Given the description of an element on the screen output the (x, y) to click on. 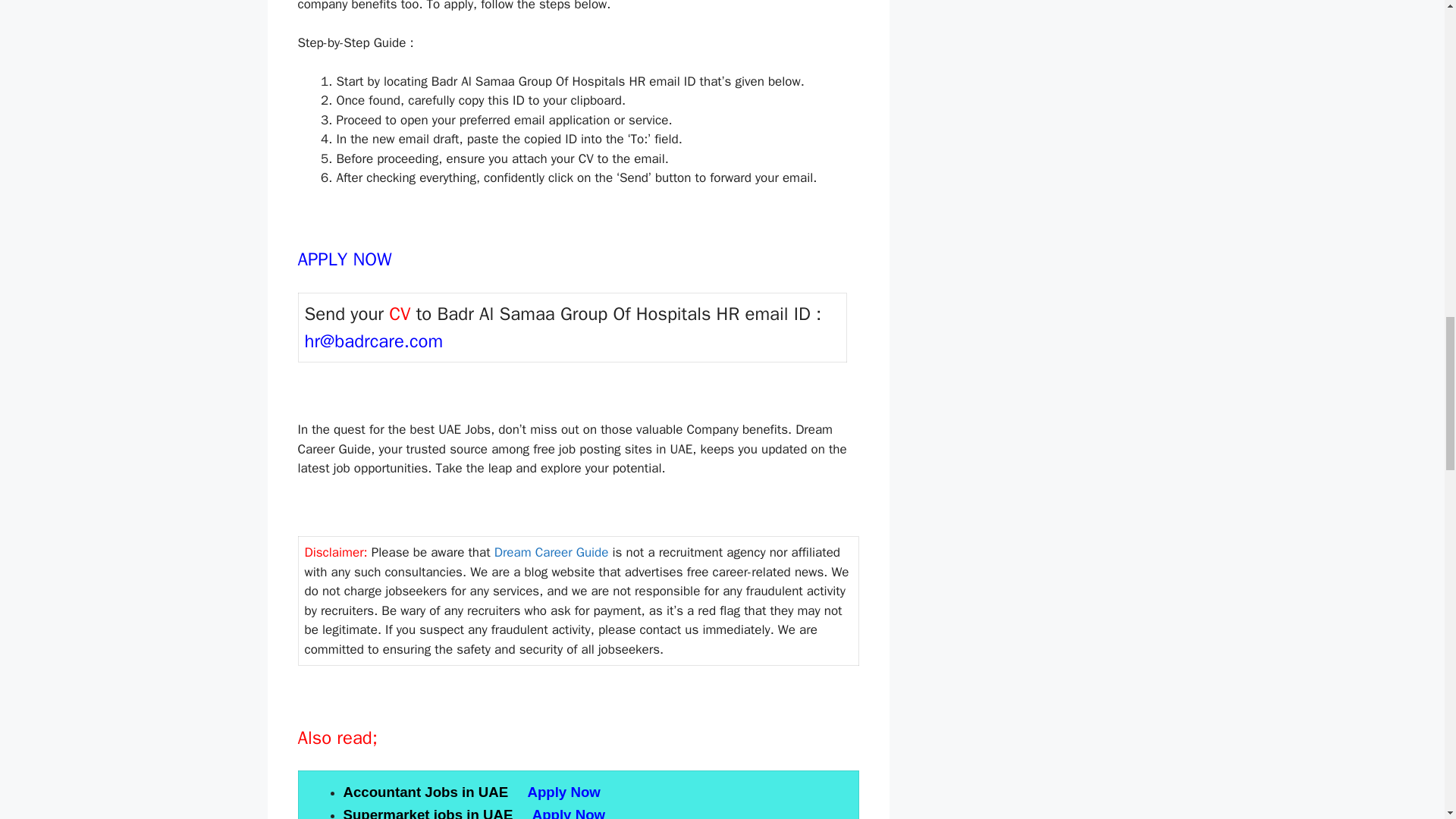
APPLY NOW  (346, 261)
Apply Now (571, 812)
Dream Career Guide (551, 552)
Apply Now (563, 791)
